Given the description of an element on the screen output the (x, y) to click on. 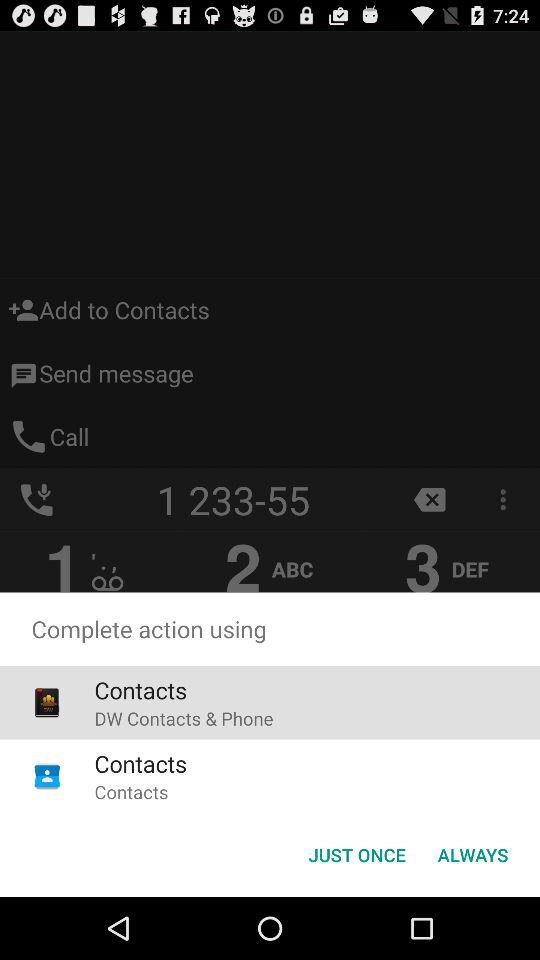
select icon at the bottom right corner (472, 854)
